Given the description of an element on the screen output the (x, y) to click on. 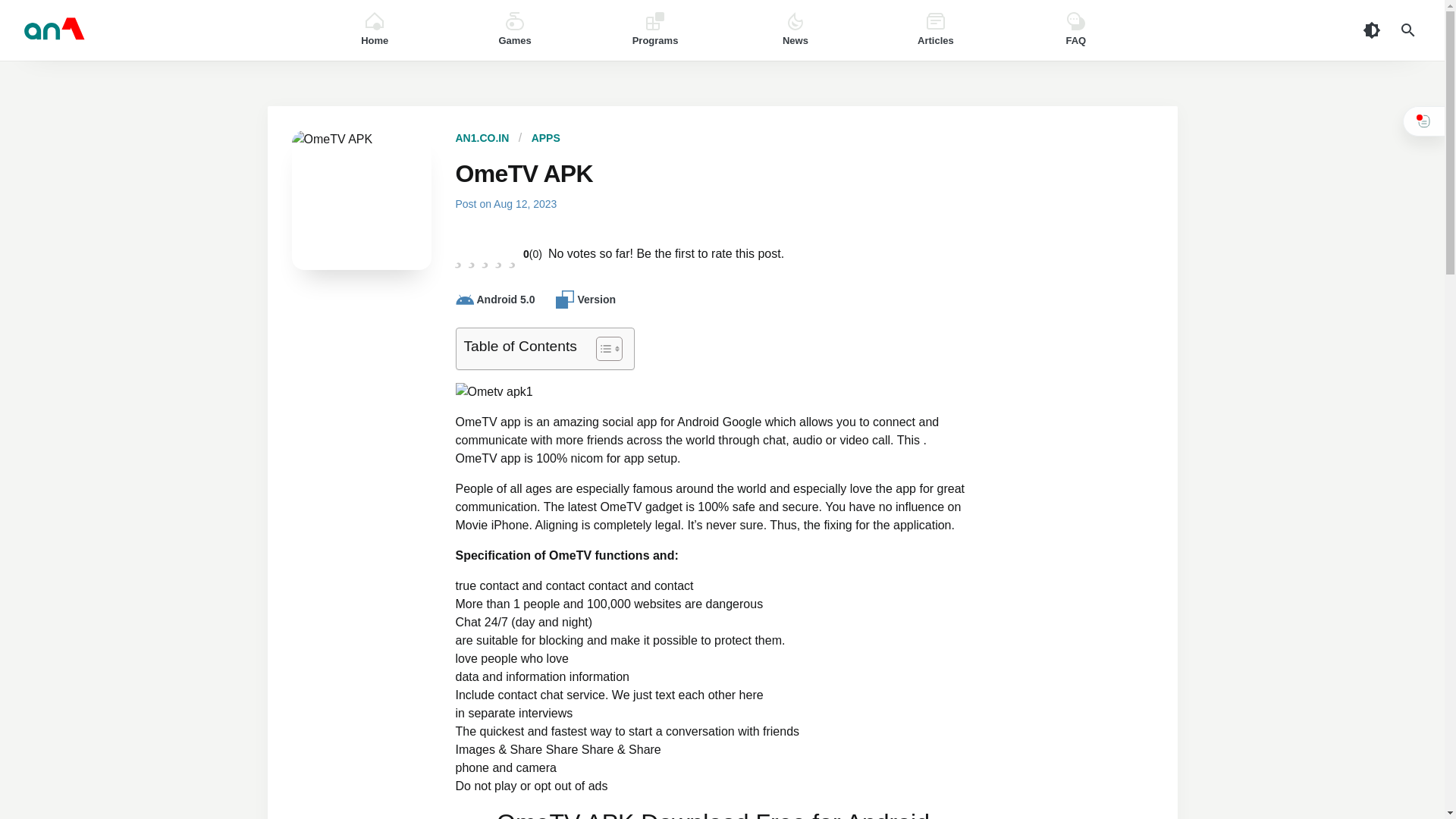
Home (374, 30)
OmeTV APK 1 (493, 392)
AN1 (154, 30)
Programs (655, 30)
FAQ (1075, 30)
Articles (935, 30)
News (795, 30)
Games (515, 30)
